Given the description of an element on the screen output the (x, y) to click on. 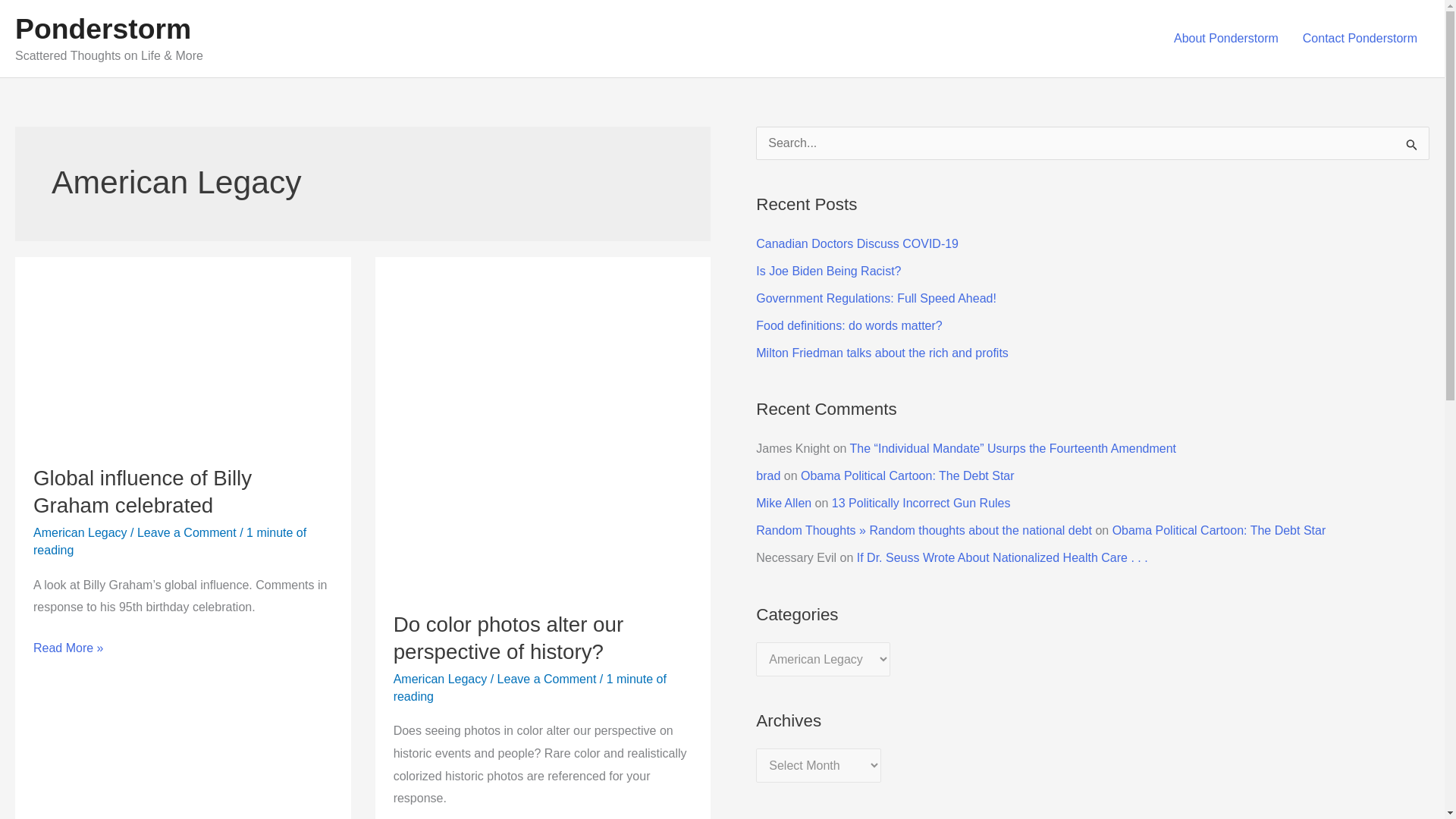
Leave a Comment (185, 532)
American Legacy (80, 532)
Ponderstorm (102, 29)
Canadian Doctors Discuss COVID-19 (856, 243)
Mike Allen (782, 502)
Food definitions: do words matter? (848, 325)
Government Regulations: Full Speed Ahead! (875, 297)
Contact Ponderstorm (1359, 38)
Leave a Comment (546, 678)
Global influence of Billy Graham celebrated (142, 491)
